Given the description of an element on the screen output the (x, y) to click on. 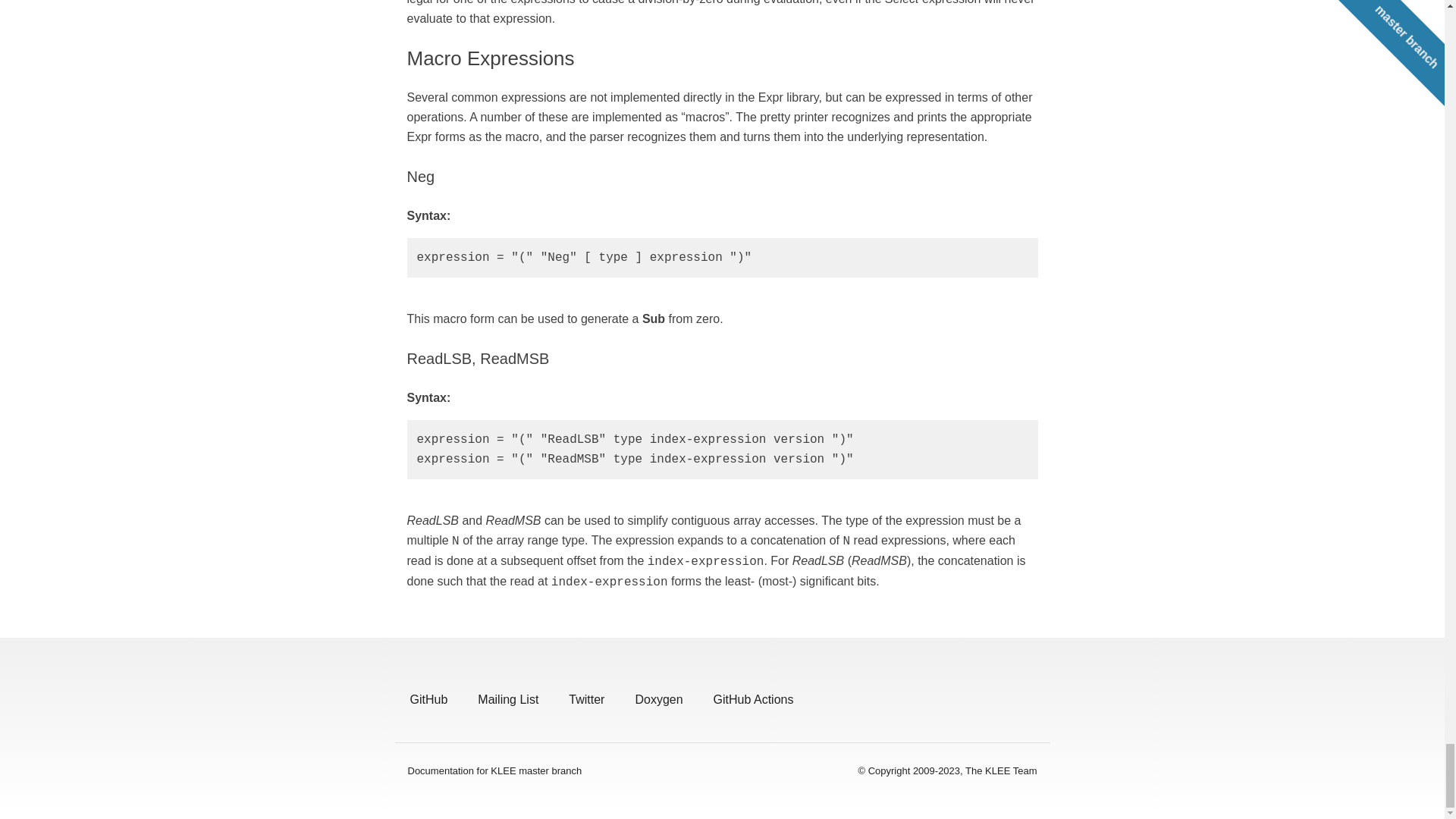
Mailing List (507, 698)
GitHub (427, 698)
Twitter (586, 698)
GitHub Actions (753, 698)
Doxygen (658, 698)
